Given the description of an element on the screen output the (x, y) to click on. 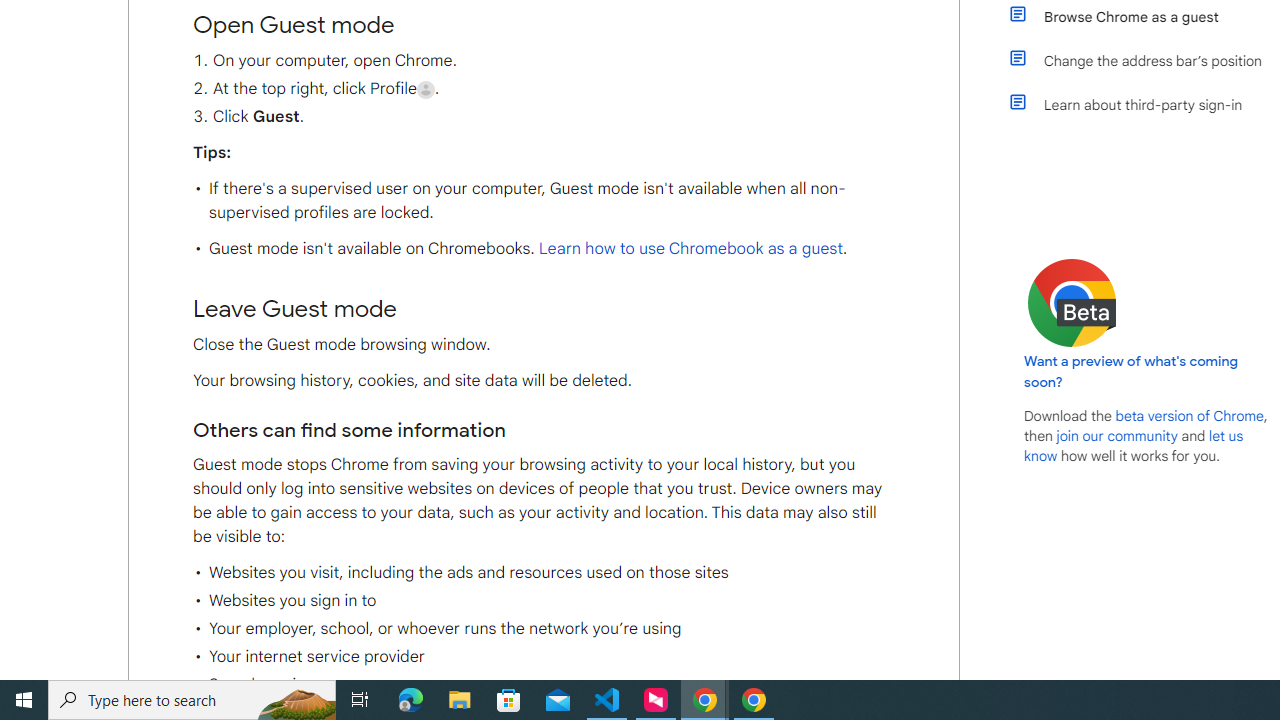
Learn how to use Chromebook as a guest (690, 249)
Chrome Beta logo (1072, 302)
Want a preview of what's coming soon? (1131, 371)
Profile (426, 89)
let us know (1134, 445)
beta version of Chrome (1189, 415)
join our community (1116, 435)
